Given the description of an element on the screen output the (x, y) to click on. 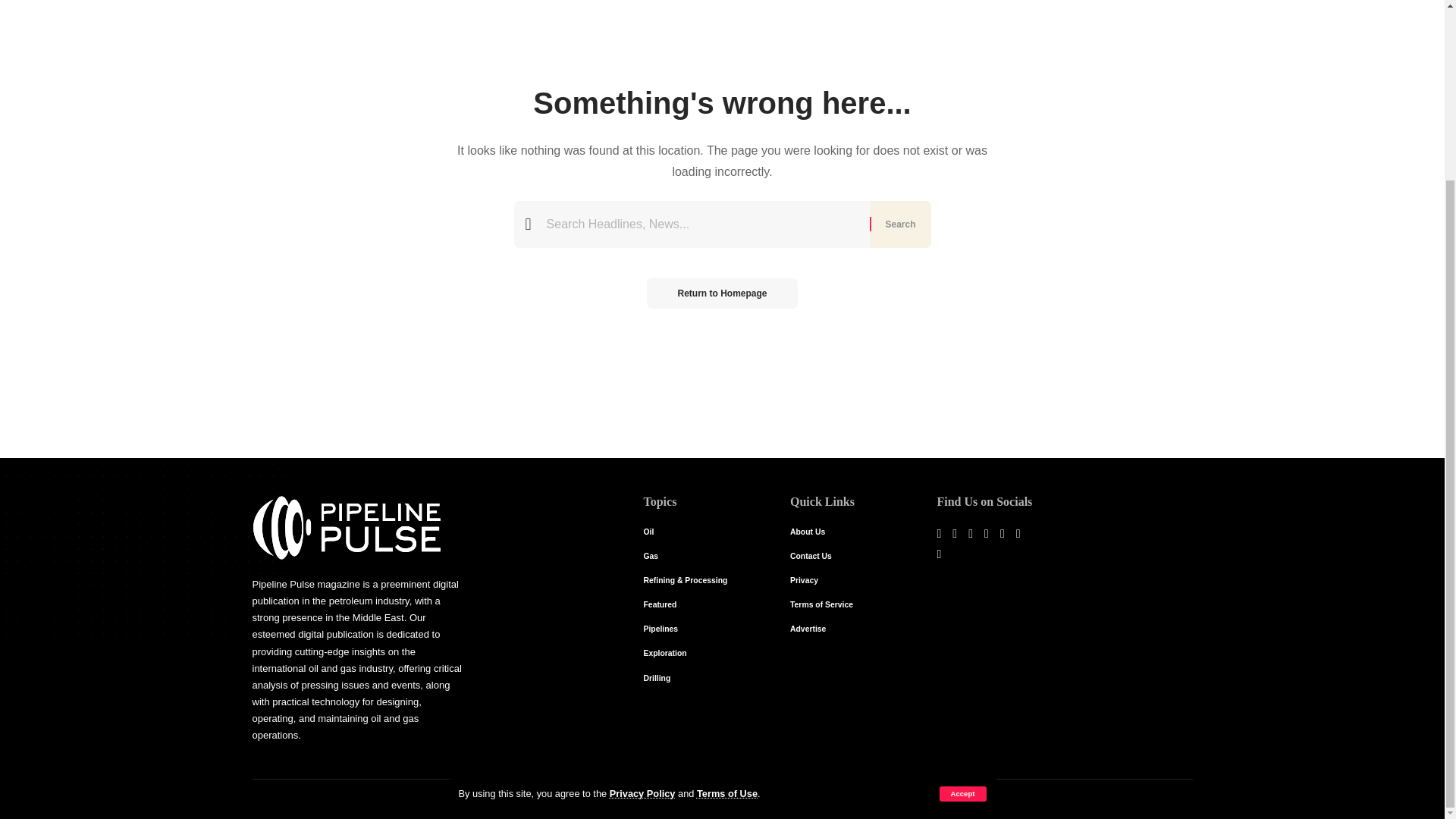
Accept (962, 572)
Search (899, 224)
Terms of Use (727, 572)
Search (899, 224)
Privacy Policy (642, 572)
